Given the description of an element on the screen output the (x, y) to click on. 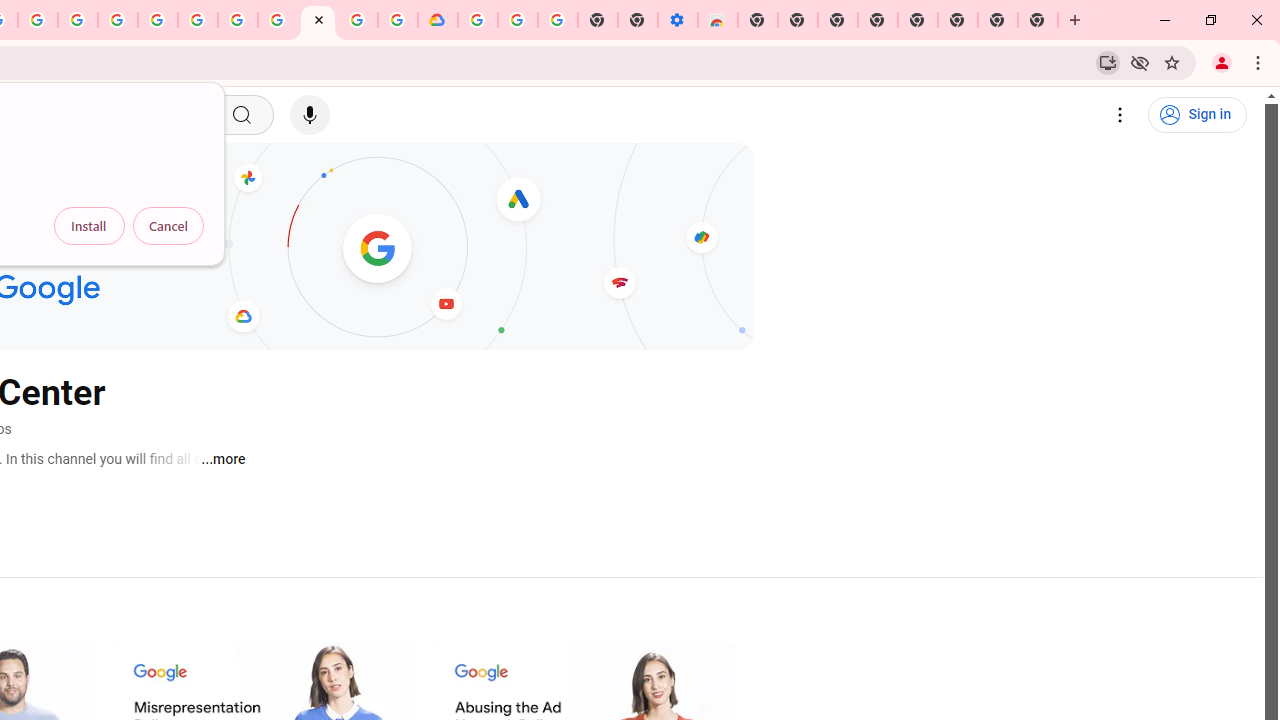
Search with your voice (309, 115)
Google Account Help (237, 20)
Turn cookies on or off - Computer - Google Account Help (557, 20)
